Given the description of an element on the screen output the (x, y) to click on. 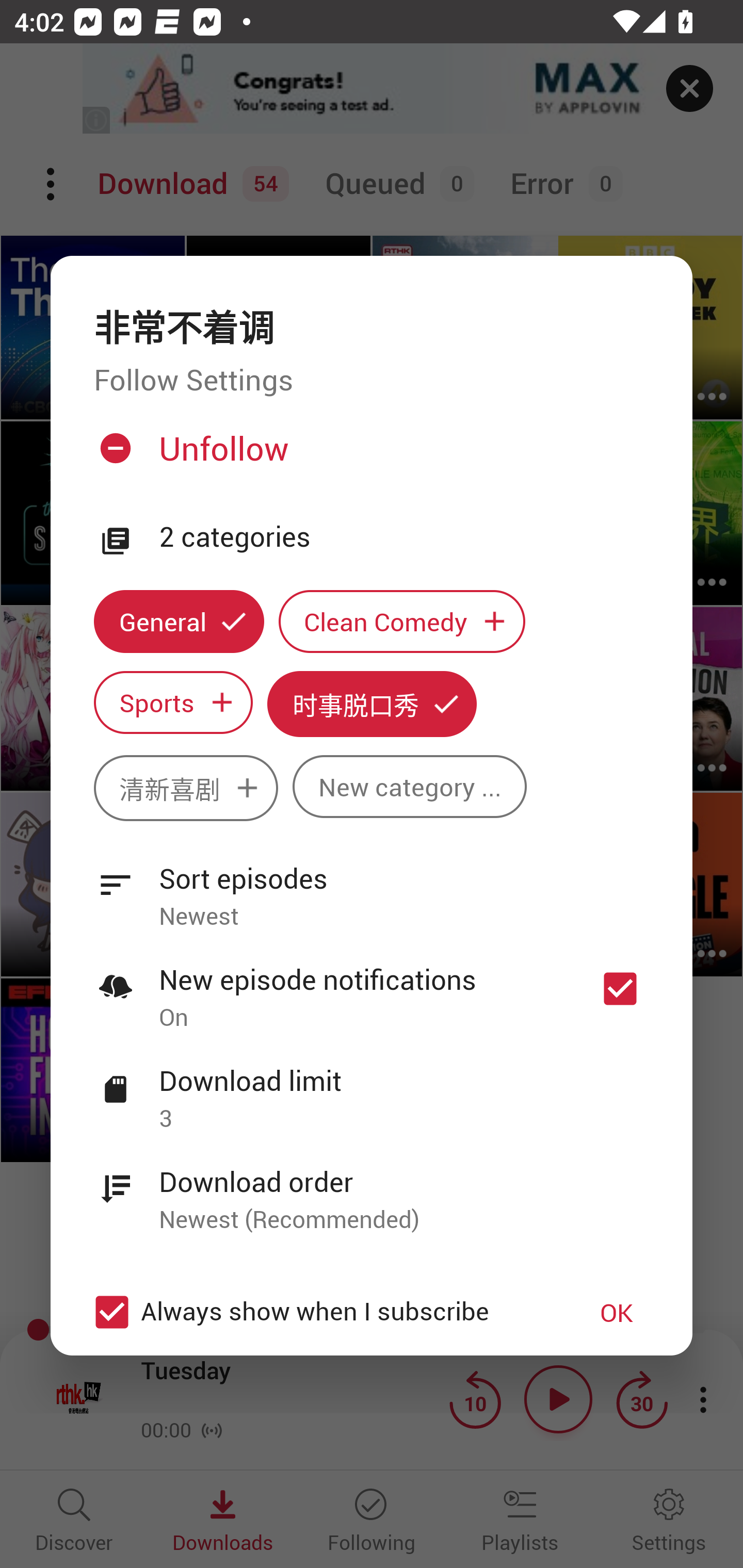
Unfollow (369, 456)
2 categories (404, 537)
General (178, 620)
Clean Comedy (401, 620)
Sports (172, 702)
时事脱口秀 (372, 703)
清新喜剧 (185, 788)
New category ... (409, 786)
Sort episodes Newest (371, 885)
New episode notifications (620, 988)
Download limit 3 (371, 1088)
Download order Newest (Recommended) (371, 1189)
OK (616, 1311)
Always show when I subscribe (320, 1311)
